Given the description of an element on the screen output the (x, y) to click on. 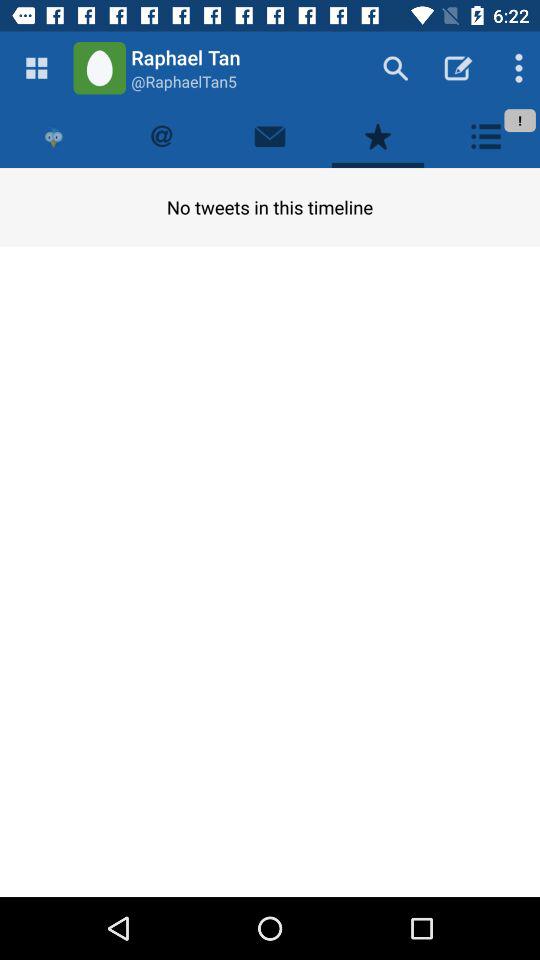
view messages (270, 136)
